Given the description of an element on the screen output the (x, y) to click on. 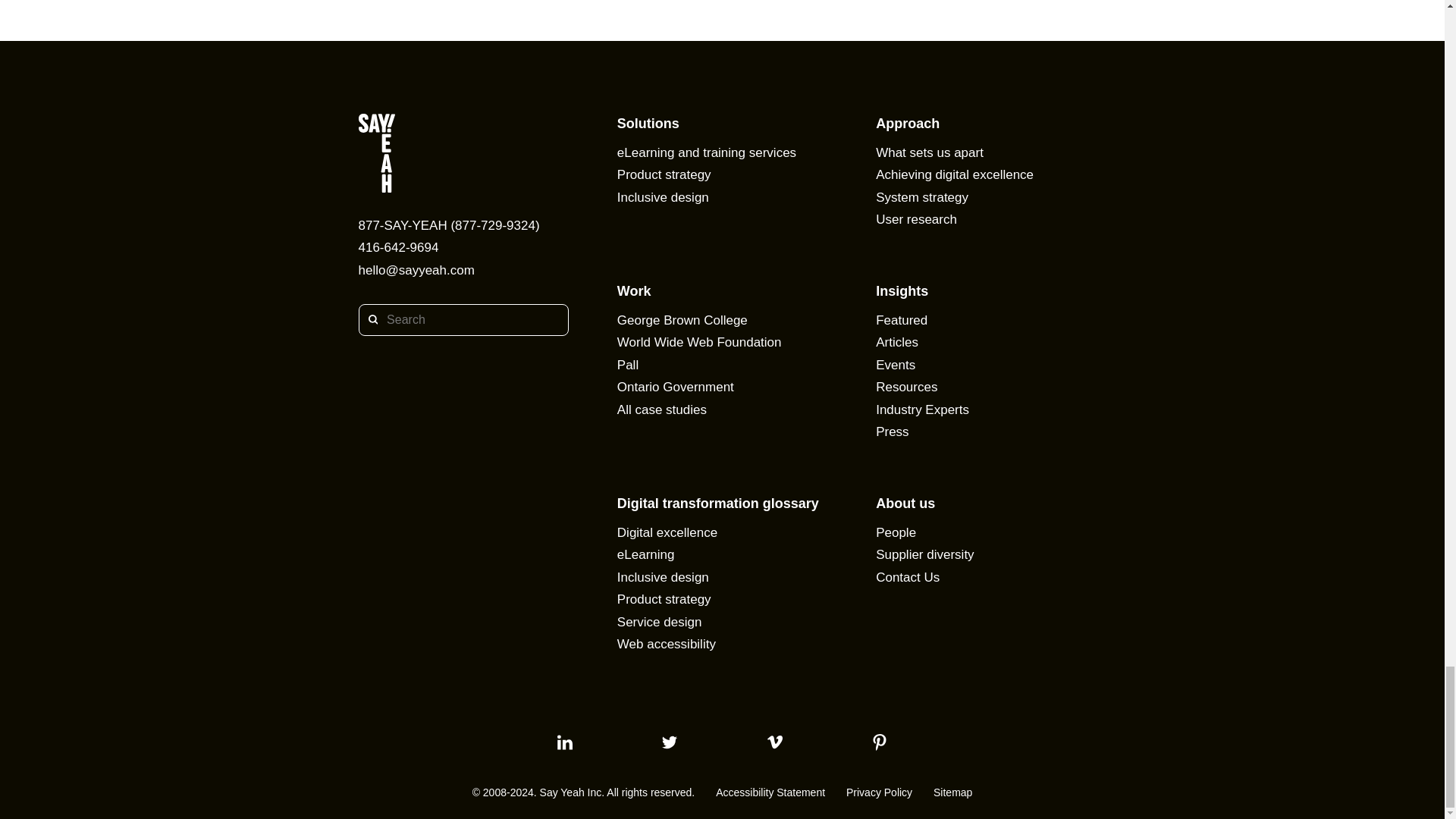
Solutions (648, 123)
Product strategy (664, 174)
User research (916, 219)
World Wide Web Foundation (699, 341)
All case studies (661, 409)
George Brown College (682, 319)
Ontario Government (675, 386)
Featured (901, 319)
Inclusive design (663, 197)
Say Yeah! Home (462, 155)
